Given the description of an element on the screen output the (x, y) to click on. 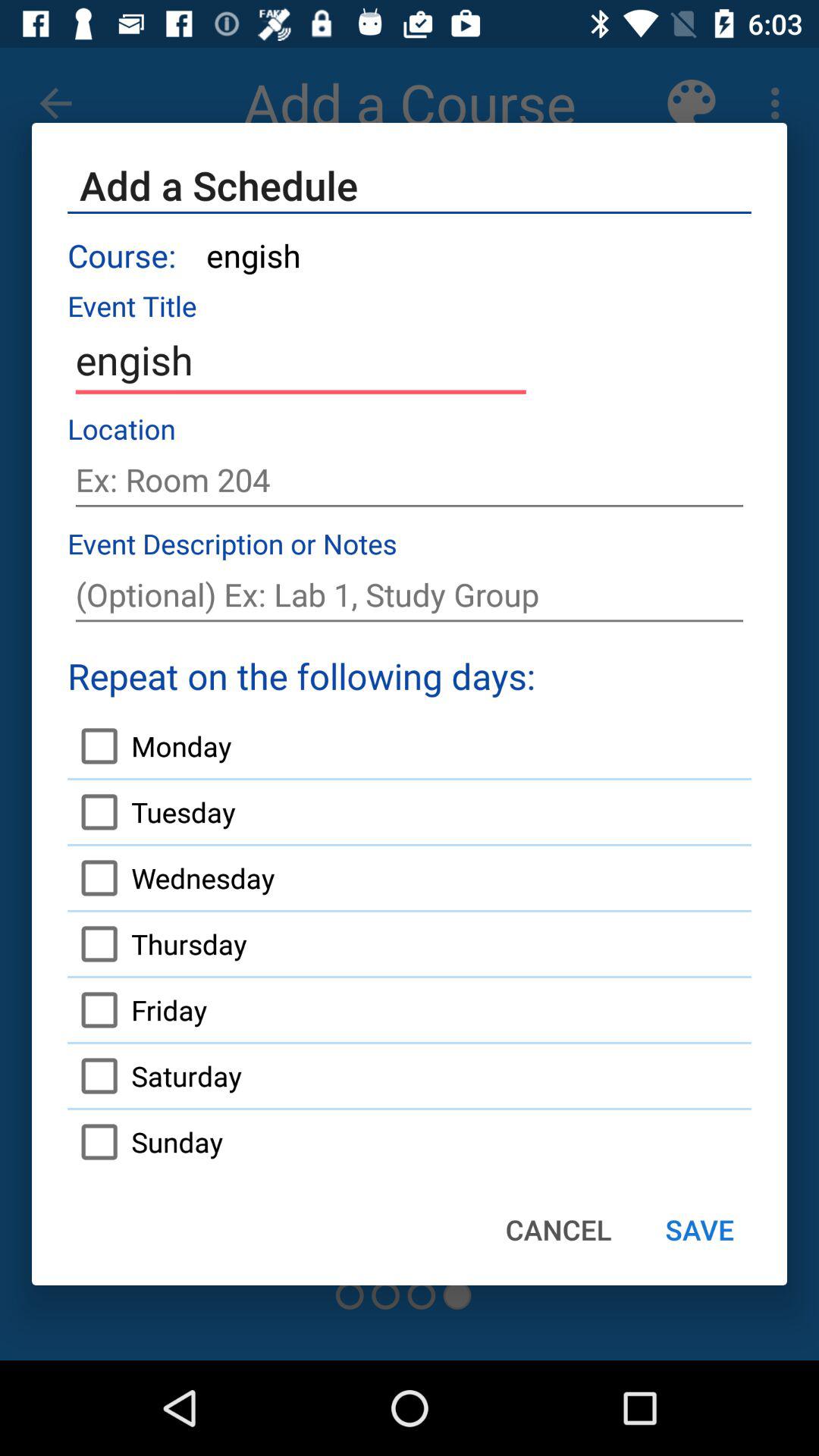
press the friday icon (137, 1009)
